Given the description of an element on the screen output the (x, y) to click on. 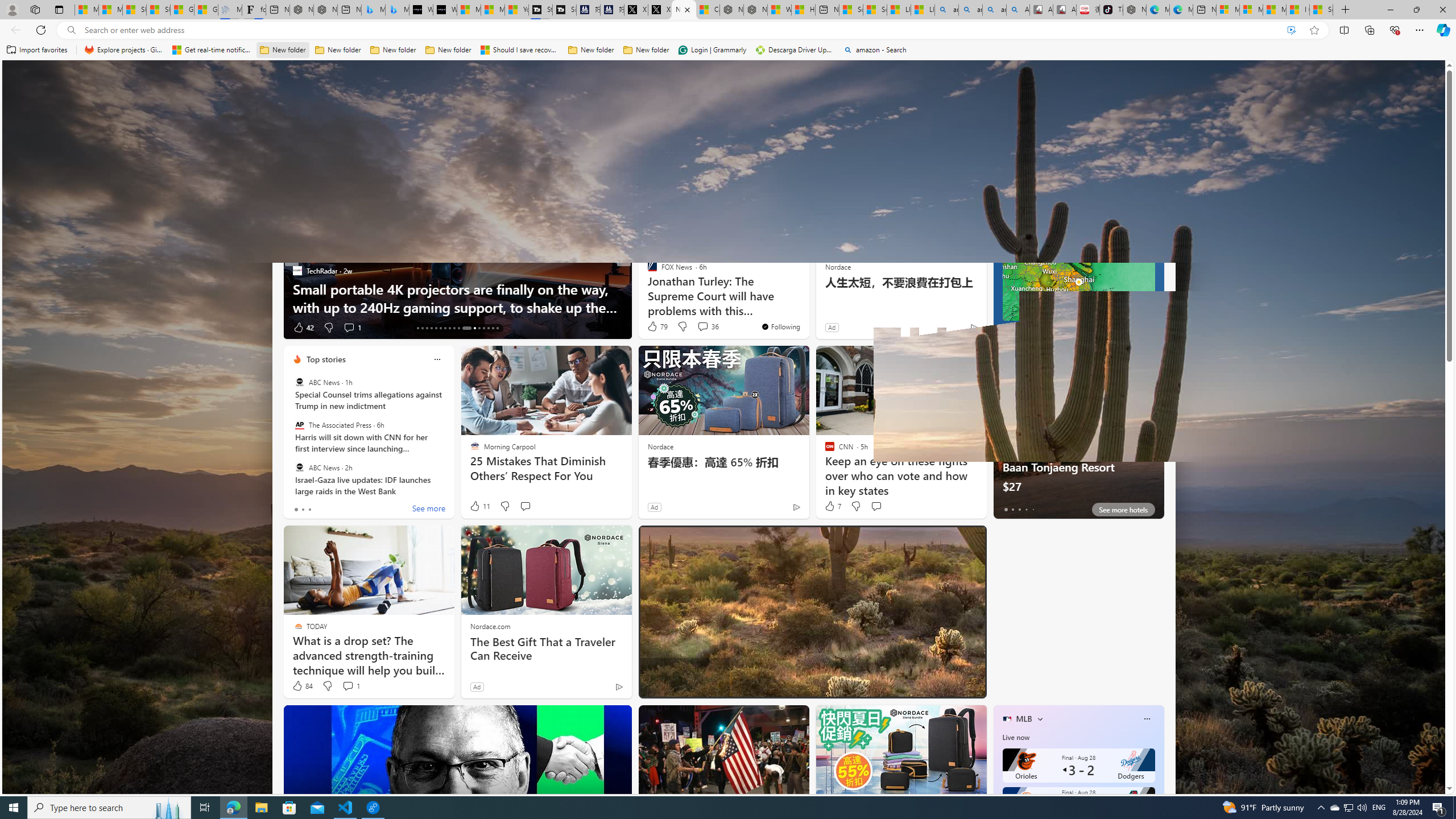
Nordace - Best Sellers (1134, 9)
Live Science (647, 270)
Discover (306, 151)
View comments 1 Comment (347, 685)
Sports (432, 151)
New folder (646, 49)
Expand background (1430, 756)
Login | Grammarly (712, 49)
The Best Gift That a Traveler Can Receive (546, 648)
Microsoft Bing Travel - Shangri-La Hotel Bangkok (396, 9)
AutomationID: tab-24 (471, 328)
AutomationID: tab-25 (478, 328)
Browser essentials (1394, 29)
Back (13, 29)
Microsoft start (81, 78)
